Given the description of an element on the screen output the (x, y) to click on. 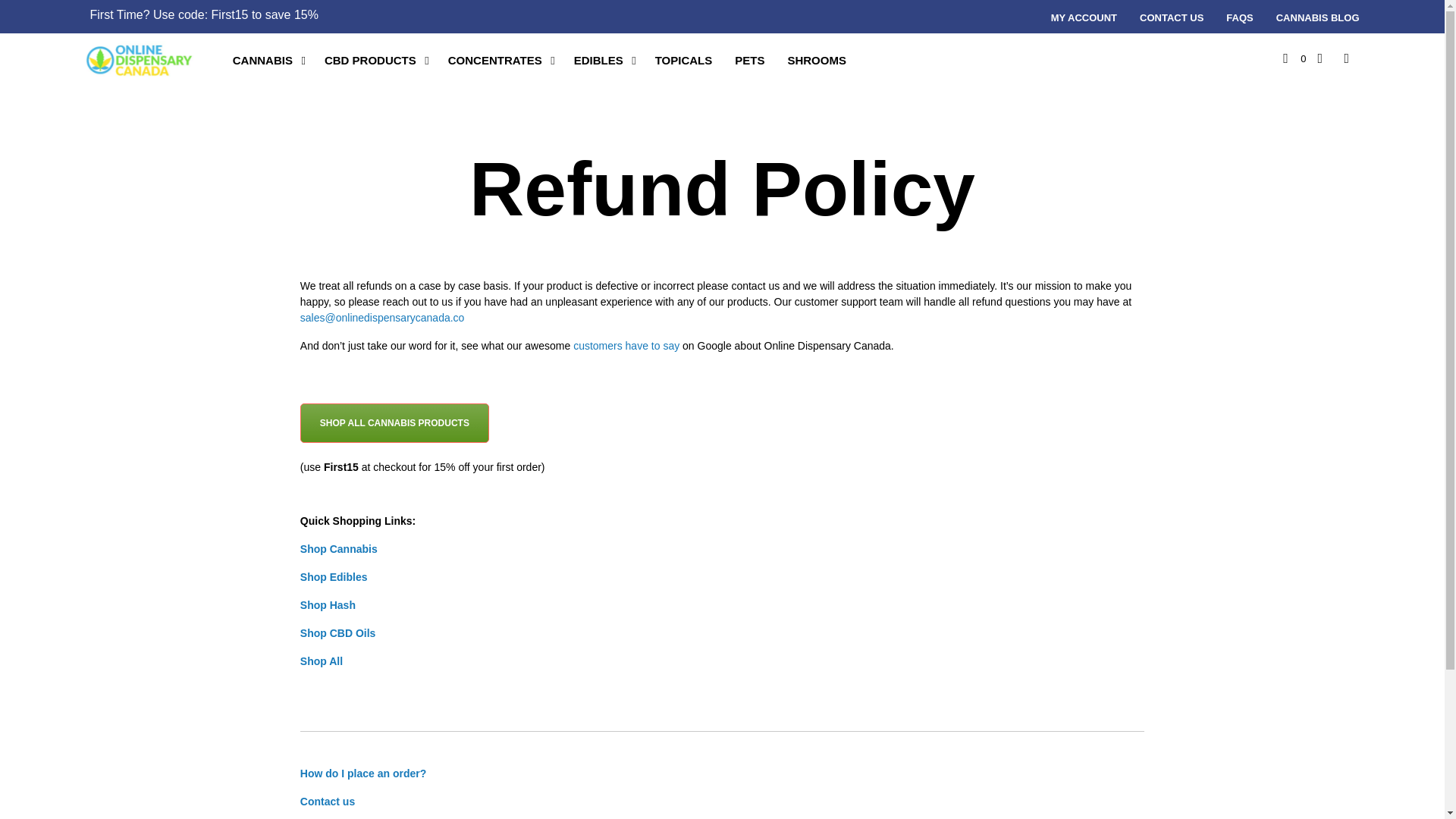
MY ACCOUNT (1083, 17)
Quality Product at Affordable Prices (138, 59)
CANNABIS (262, 60)
CANNABIS BLOG (1318, 17)
CONTACT US (1171, 17)
CBD PRODUCTS (370, 60)
FAQS (1238, 17)
